Given the description of an element on the screen output the (x, y) to click on. 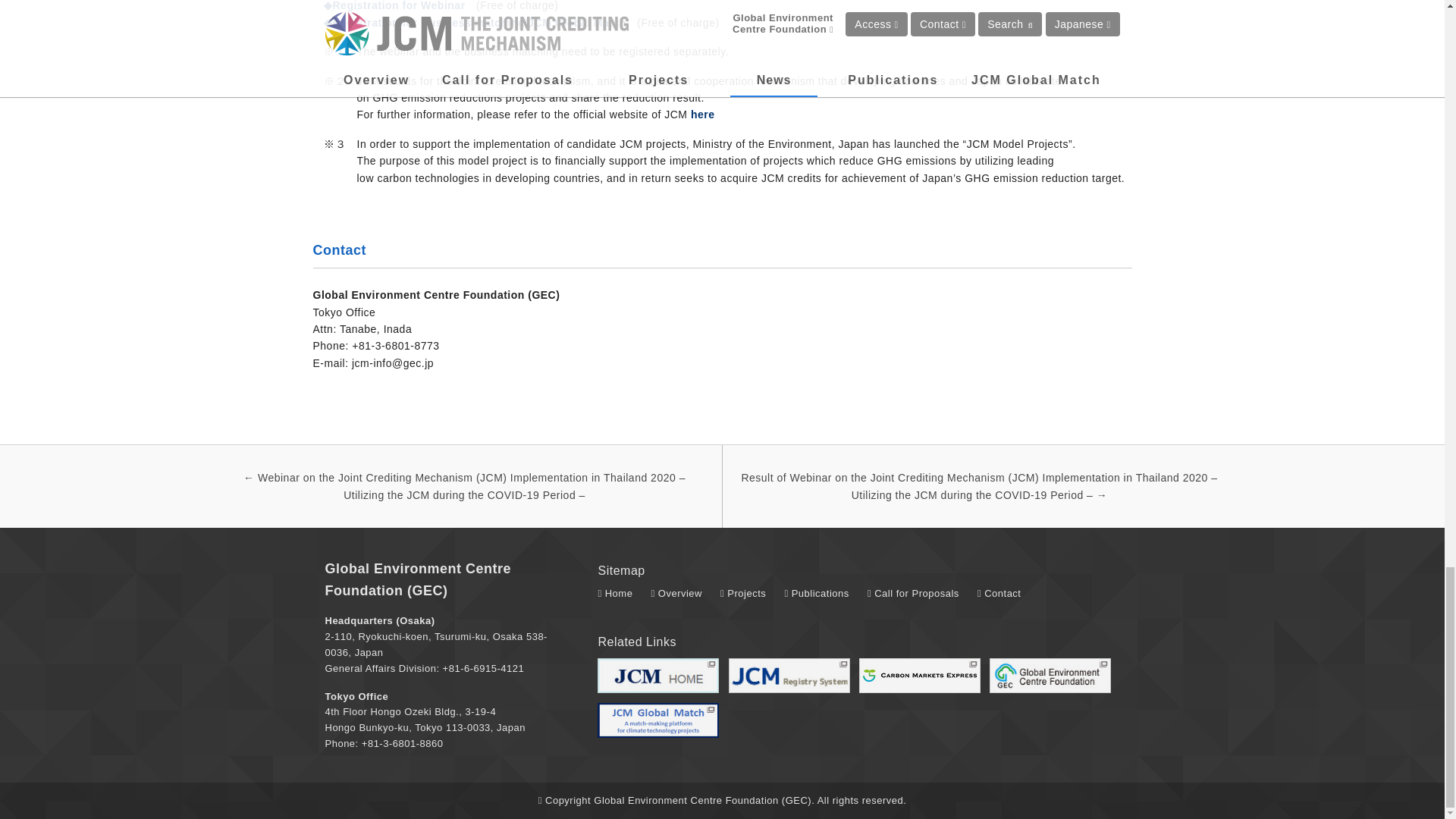
Call for Proposals (913, 593)
Contact (999, 593)
Publications (816, 593)
Projects (742, 593)
Home (613, 593)
Overview (675, 593)
here (702, 114)
